Given the description of an element on the screen output the (x, y) to click on. 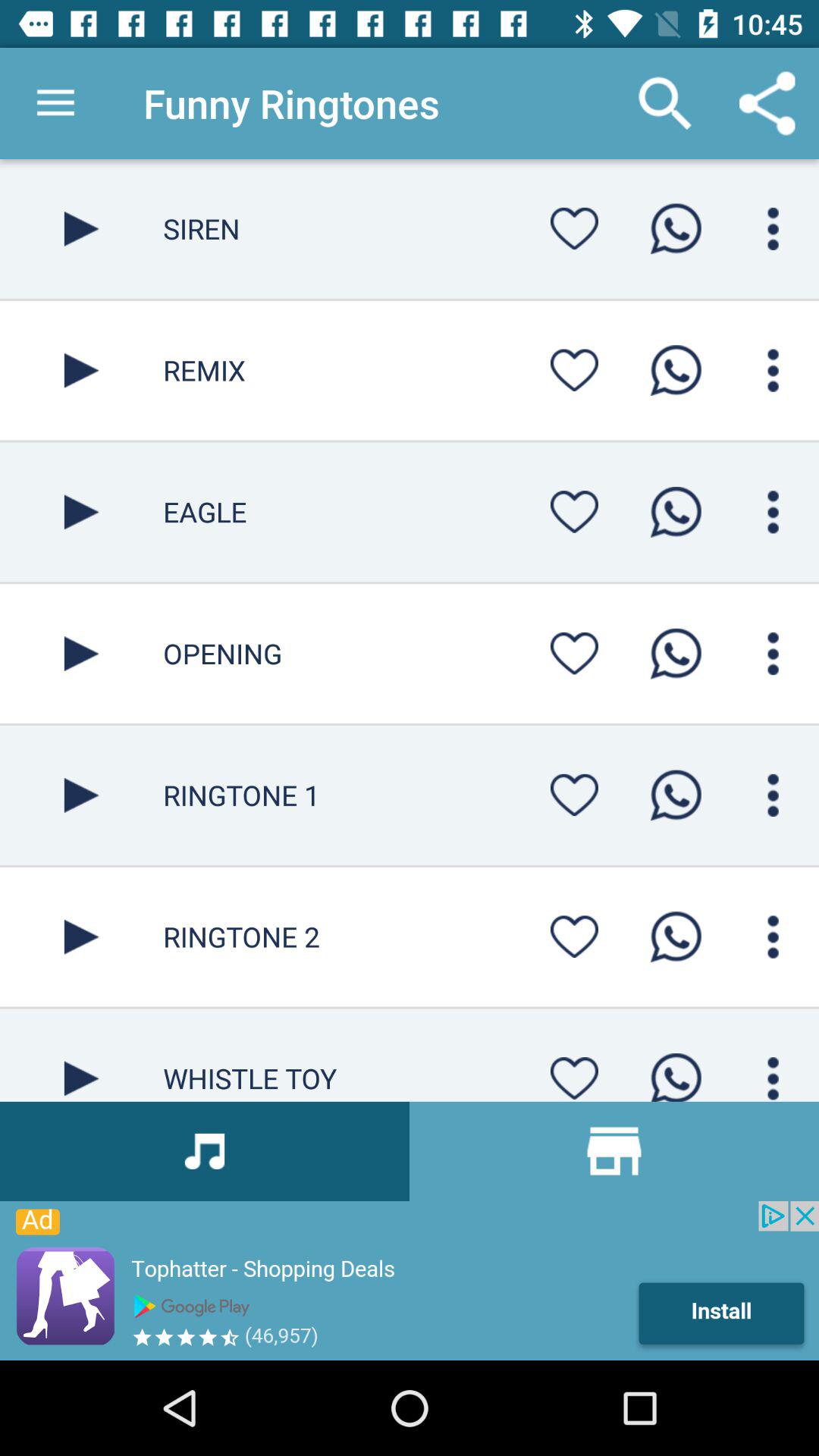
like button (574, 794)
